Given the description of an element on the screen output the (x, y) to click on. 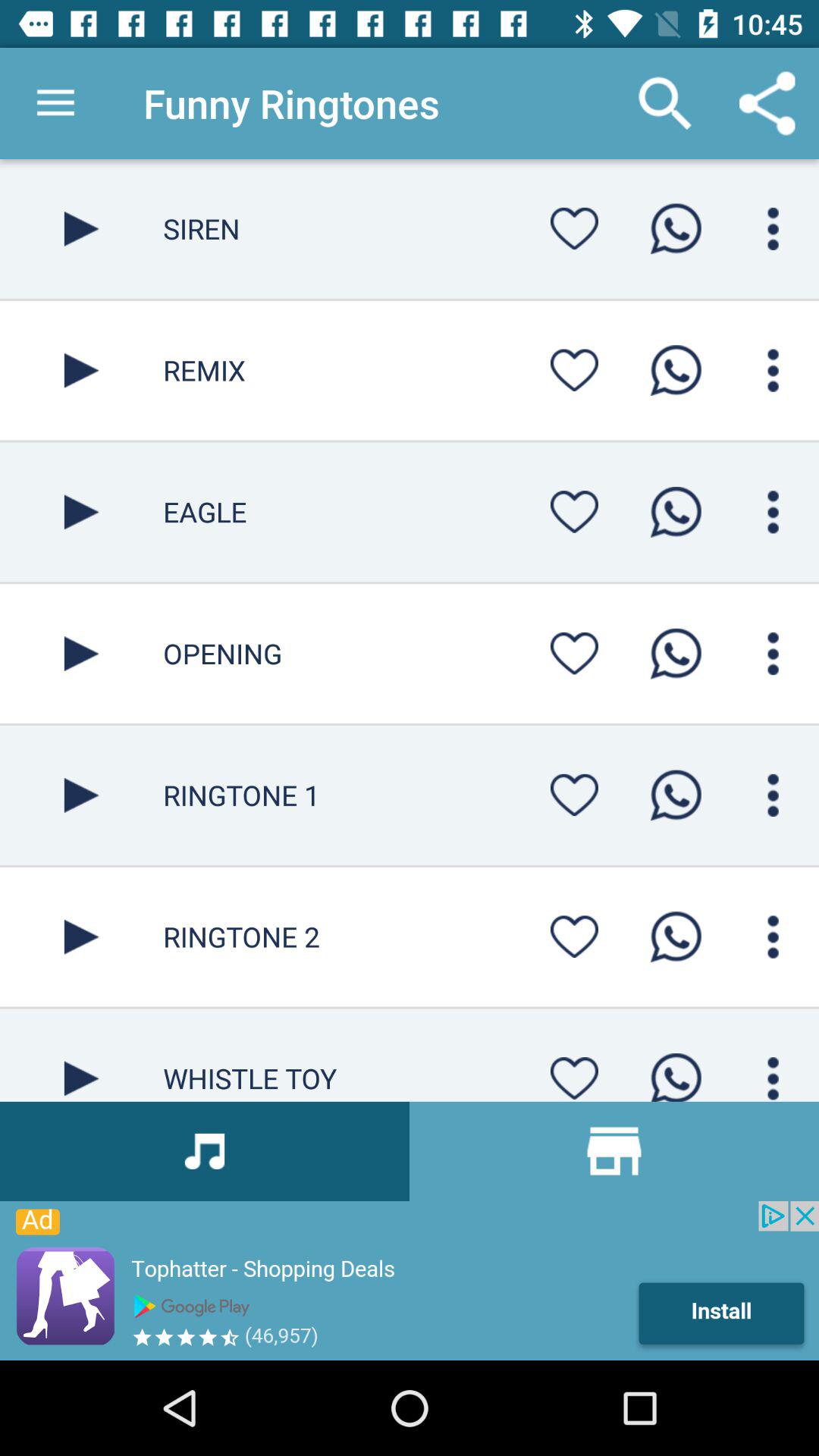
like button (574, 794)
